Given the description of an element on the screen output the (x, y) to click on. 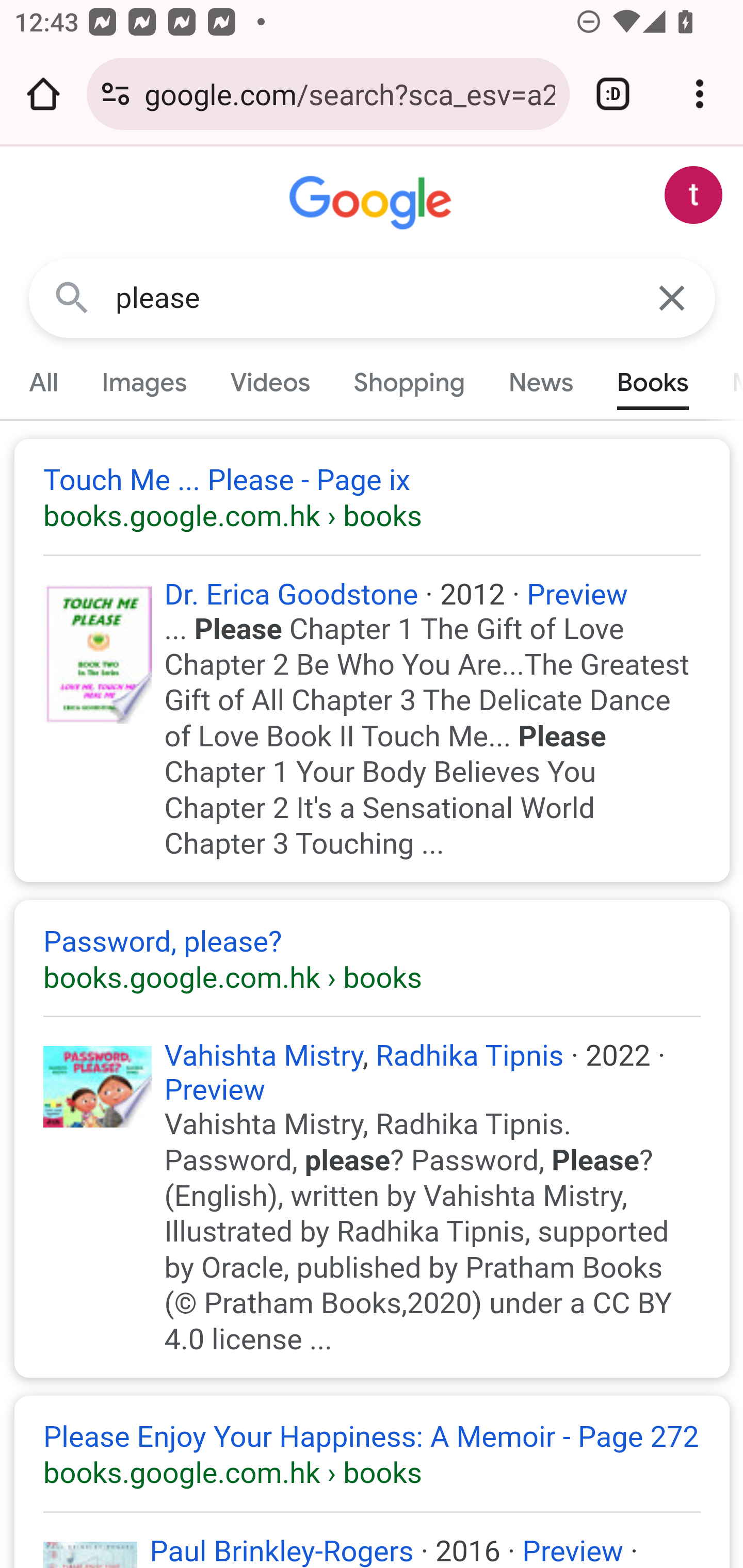
Open the home page (43, 93)
Connection is secure (115, 93)
Switch or close tabs (612, 93)
Customize and control Google Chrome (699, 93)
Google (372, 203)
Google Search (71, 296)
Clear Search (672, 296)
please (372, 297)
All (43, 382)
Images (144, 382)
Videos (270, 382)
Shopping (408, 382)
News (540, 382)
Touch Me ... Please - Page ix (372, 498)
Dr. Erica Goodstone (290, 593)
Preview (576, 593)
Password, please? (372, 958)
Vahishta Mistry (263, 1056)
Radhika Tipnis (468, 1056)
Preview (214, 1090)
Please Enjoy Your Happiness: A Memoir - Page 272 (372, 1454)
Paul Brinkley-Rogers (281, 1549)
Preview (572, 1549)
